Given the description of an element on the screen output the (x, y) to click on. 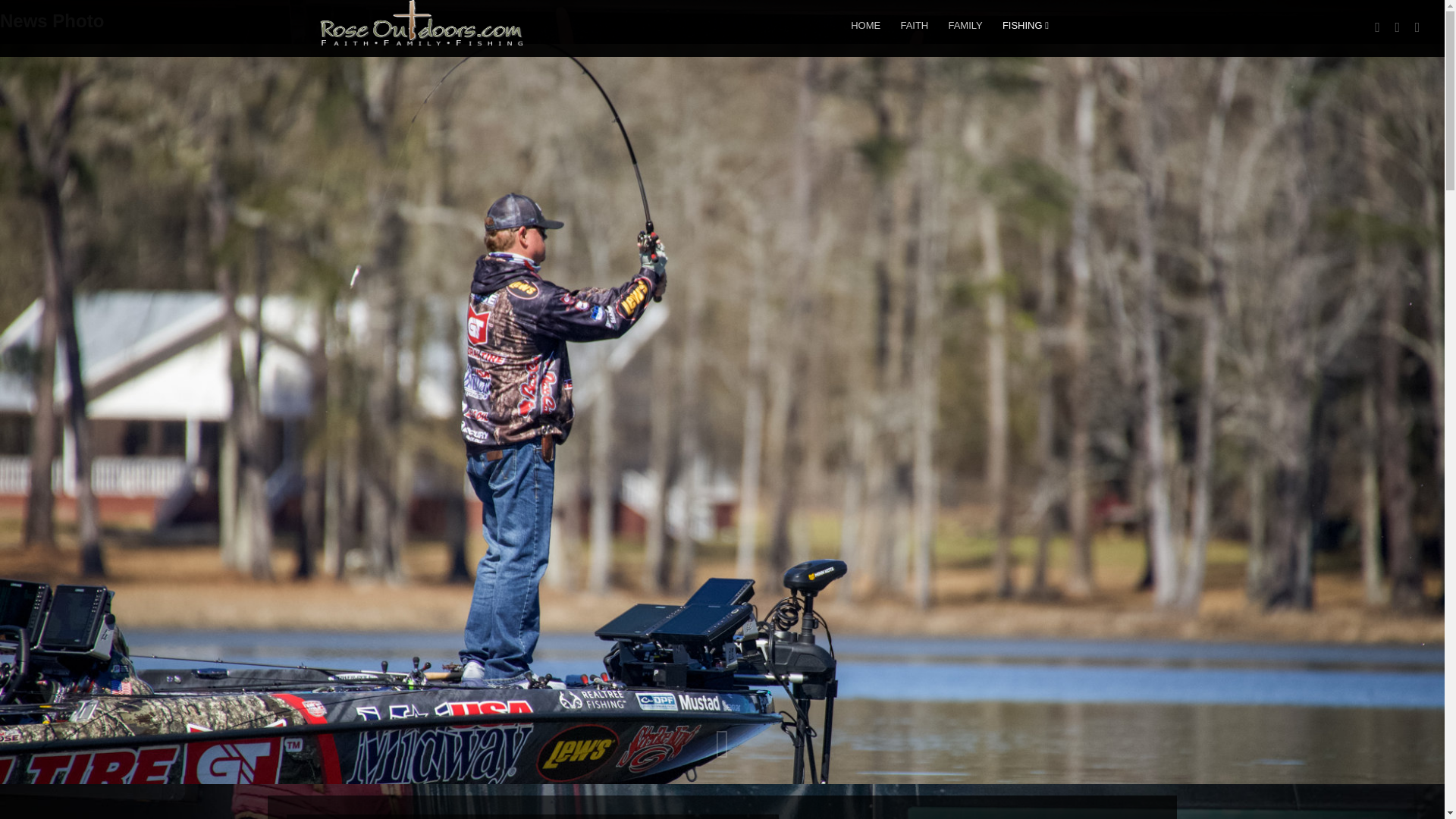
HOME (865, 24)
FAMILY (965, 24)
FISHING (1025, 24)
